Given the description of an element on the screen output the (x, y) to click on. 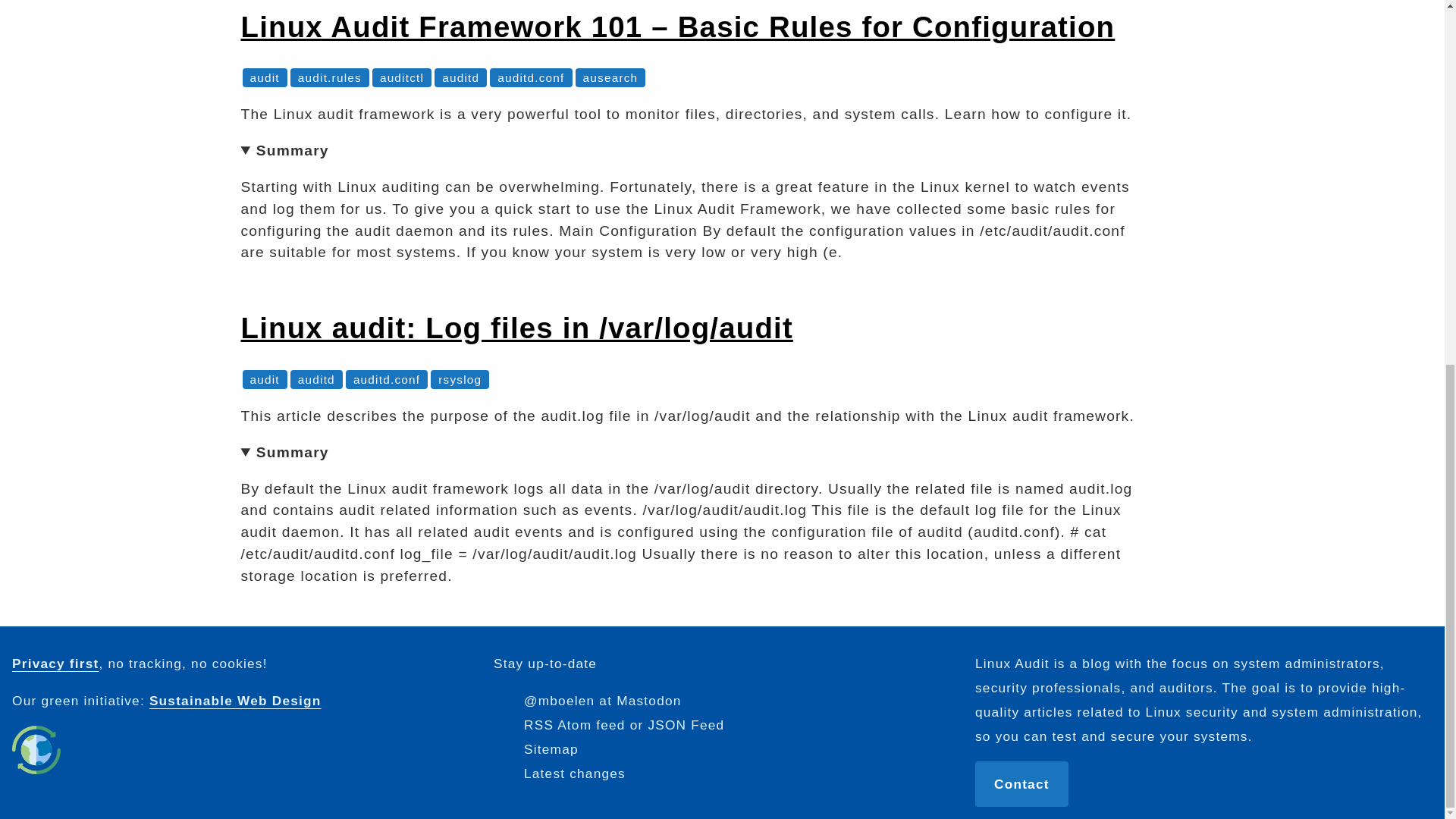
Learn more about the sustainable web design of this blog (36, 749)
